Given the description of an element on the screen output the (x, y) to click on. 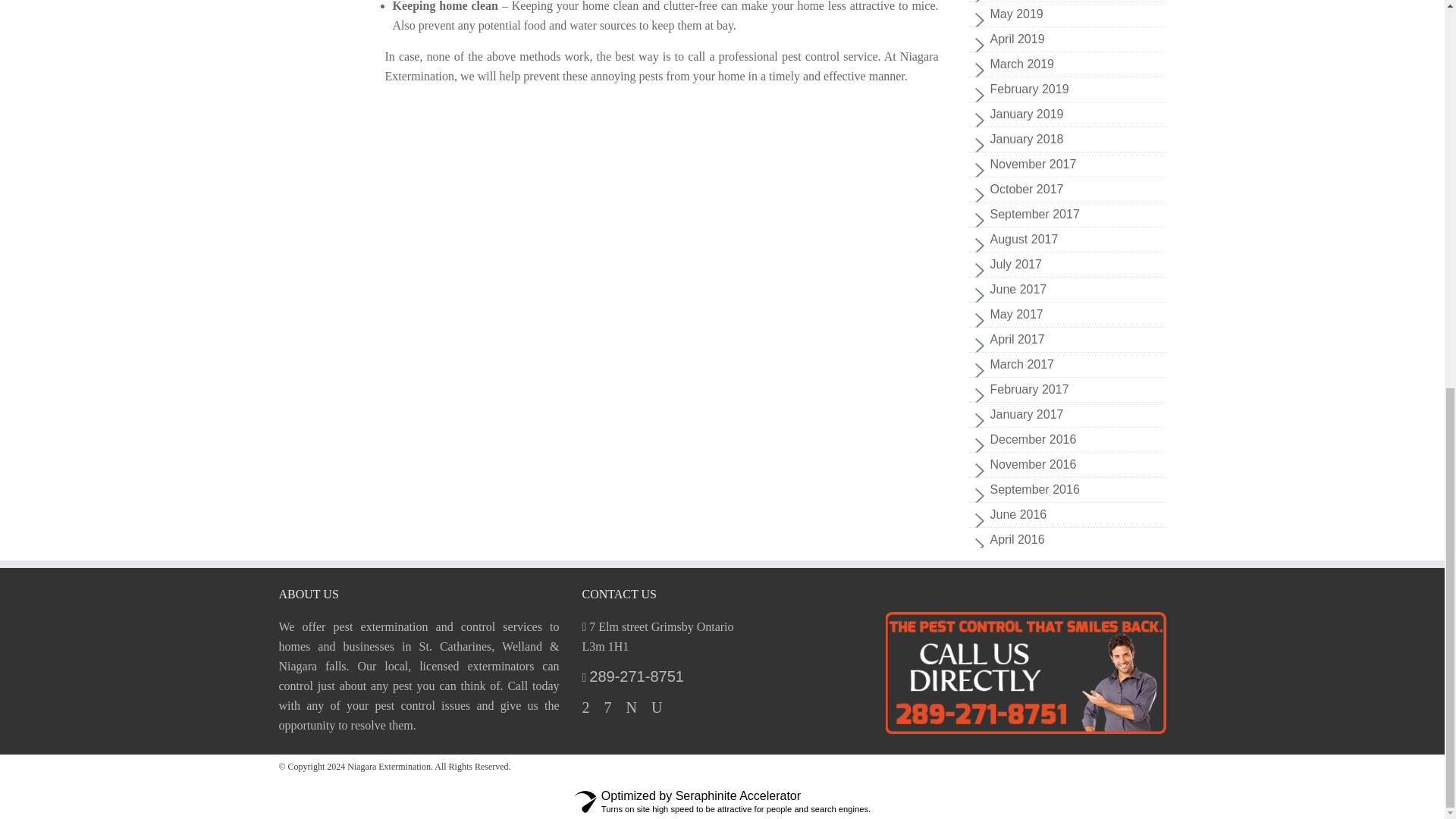
Like us on Facebook (585, 707)
Follow us on Twitter (631, 707)
Call Us : 289-271-8751 (1025, 672)
Watch us on YouTube (656, 707)
